Given the description of an element on the screen output the (x, y) to click on. 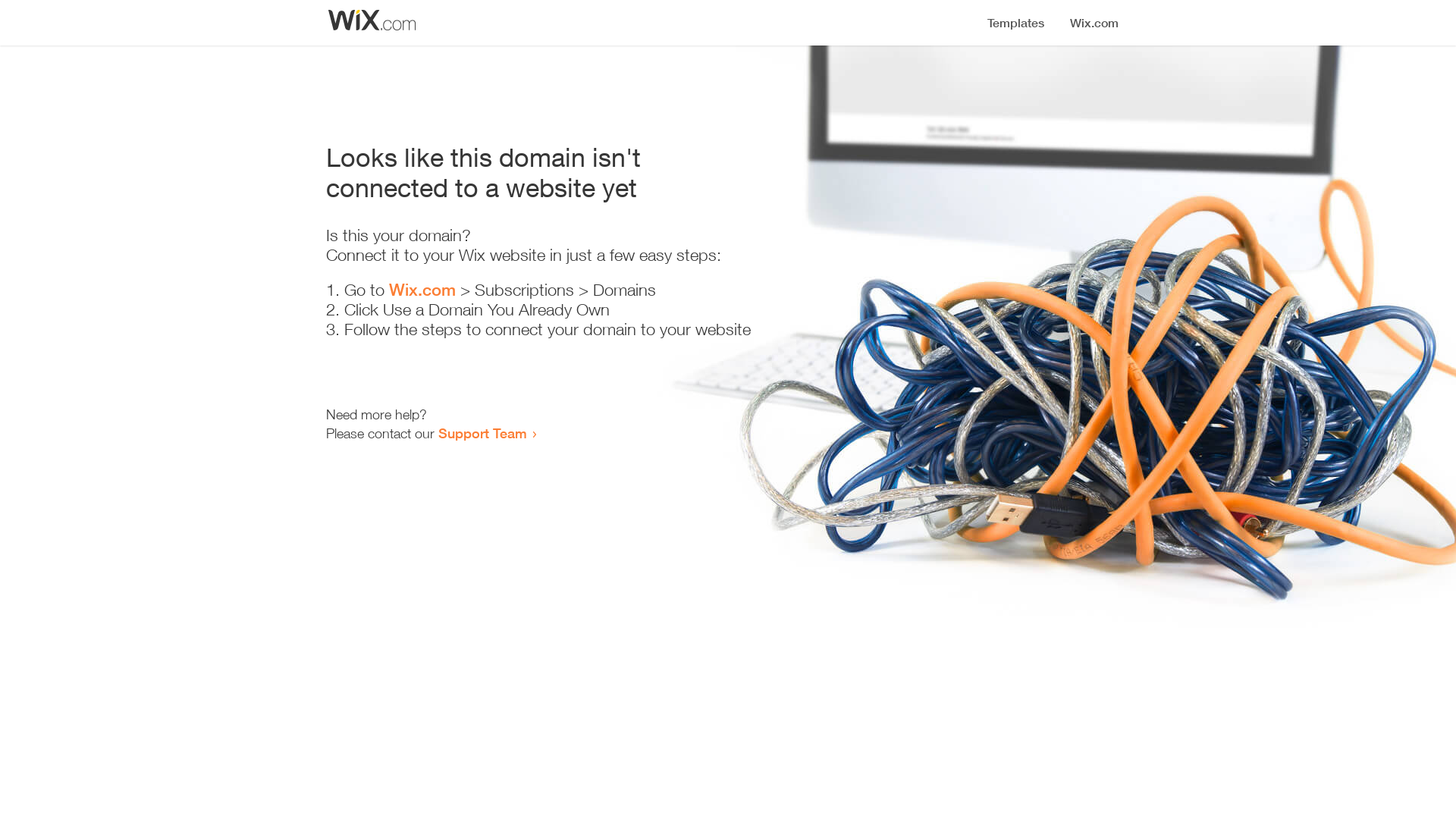
Support Team Element type: text (482, 432)
Wix.com Element type: text (422, 289)
